Given the description of an element on the screen output the (x, y) to click on. 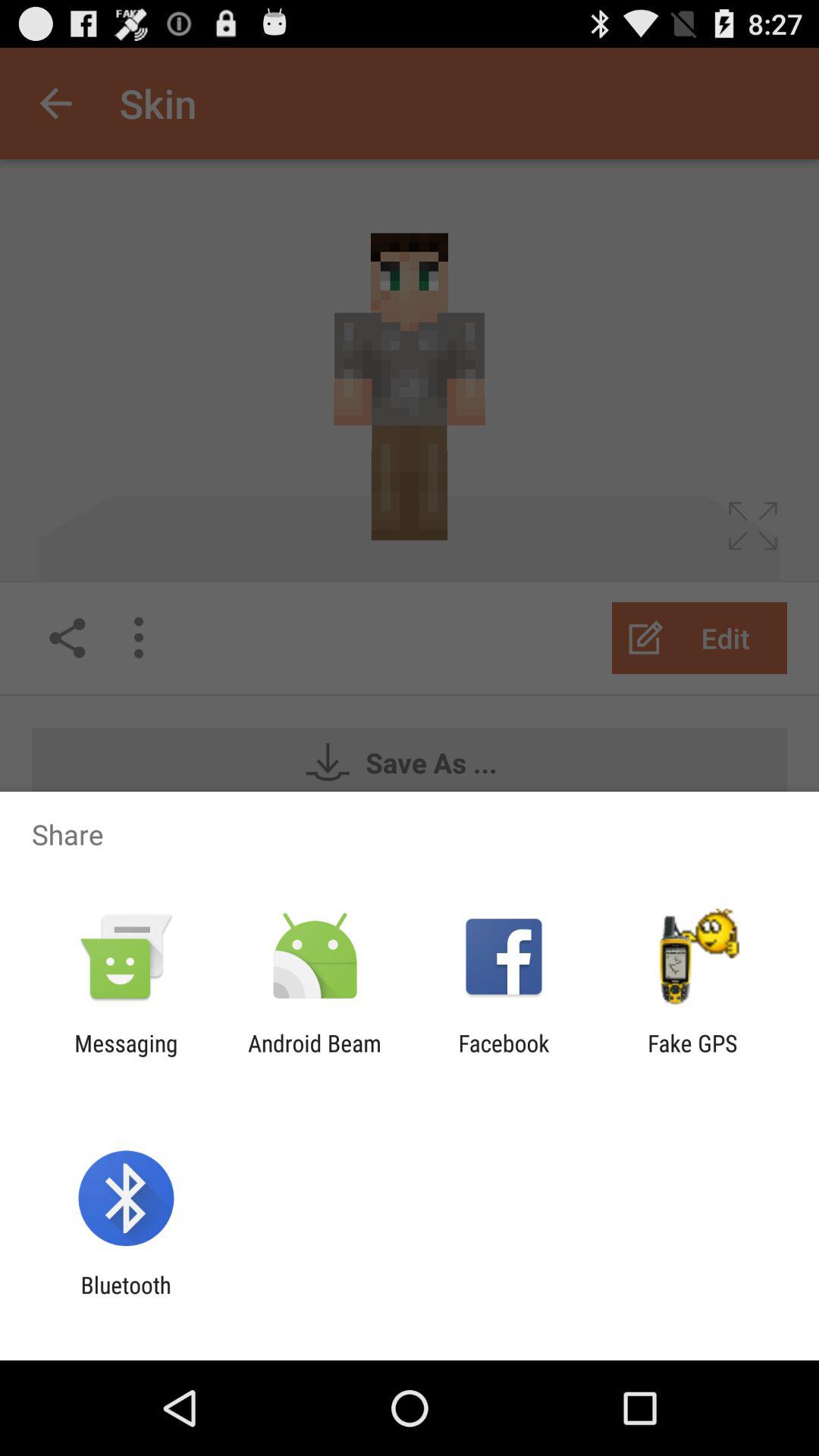
swipe to the fake gps icon (692, 1056)
